Given the description of an element on the screen output the (x, y) to click on. 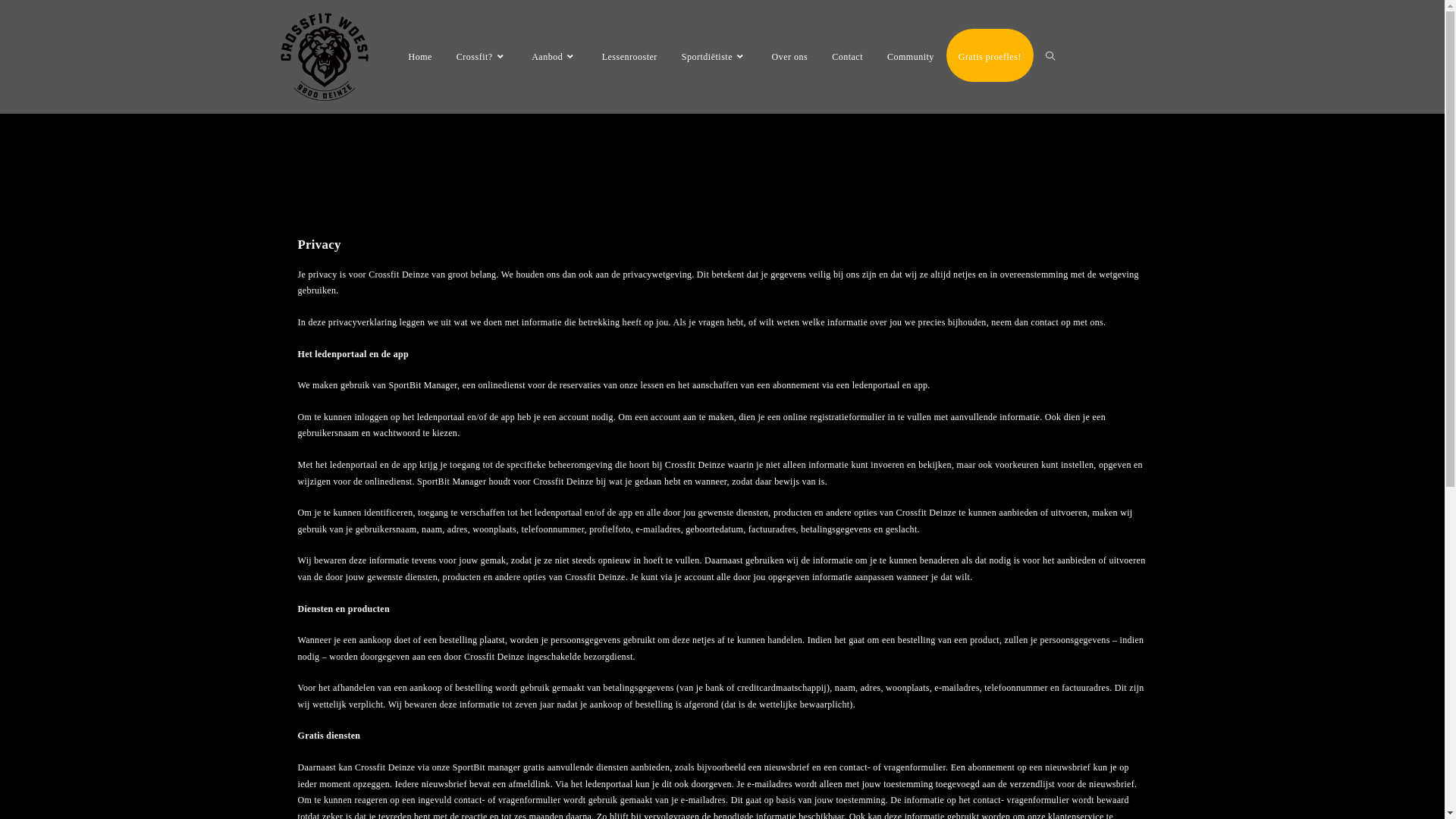
Home Element type: text (419, 56)
Aanbod Element type: text (554, 56)
Gratis proefles! Element type: text (989, 56)
Community Element type: text (910, 56)
Contact Element type: text (847, 56)
Crossfit? Element type: text (481, 56)
Over ons Element type: text (789, 56)
Lessenrooster Element type: text (629, 56)
